Given the description of an element on the screen output the (x, y) to click on. 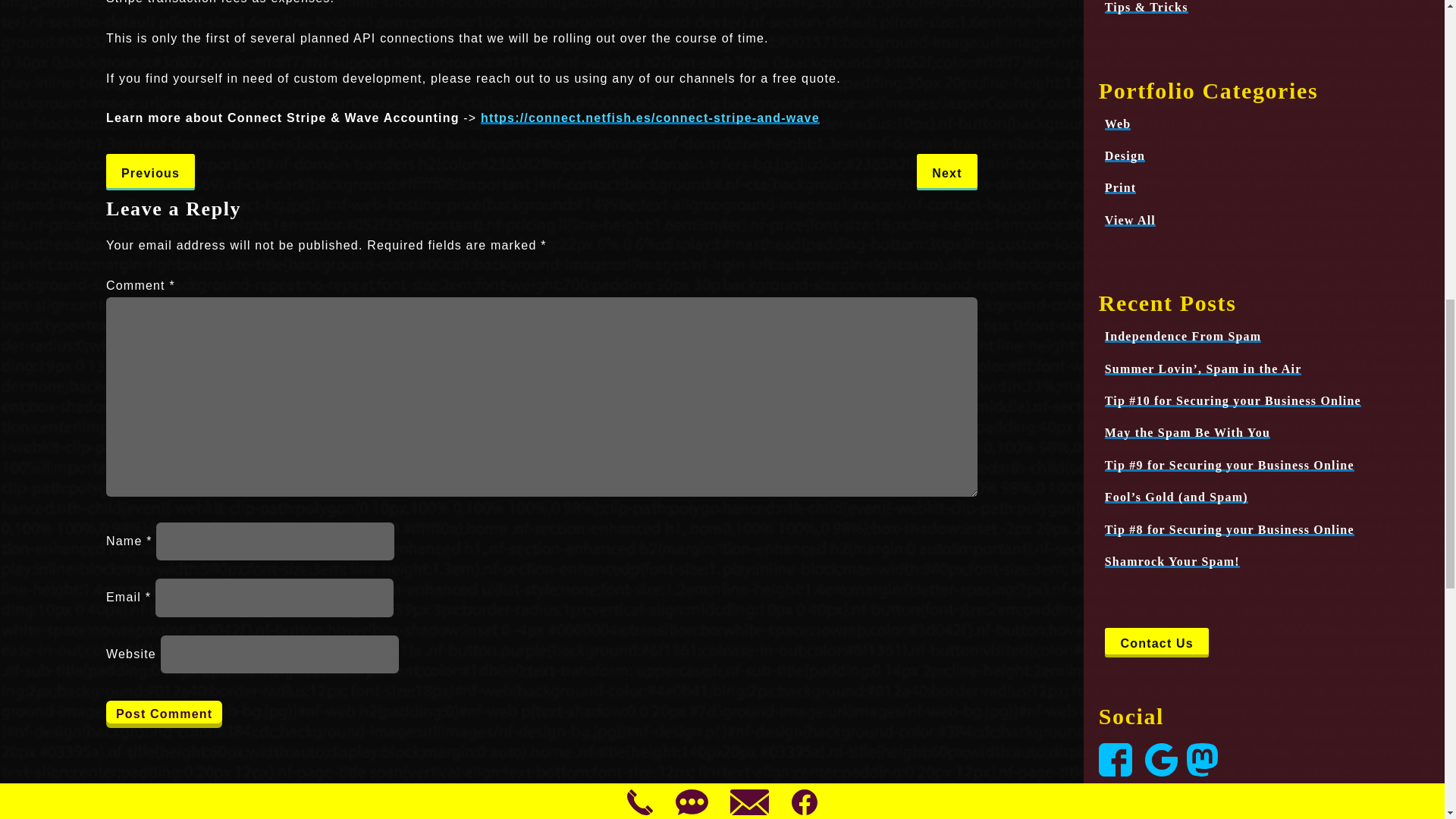
Post Comment (164, 714)
